Given the description of an element on the screen output the (x, y) to click on. 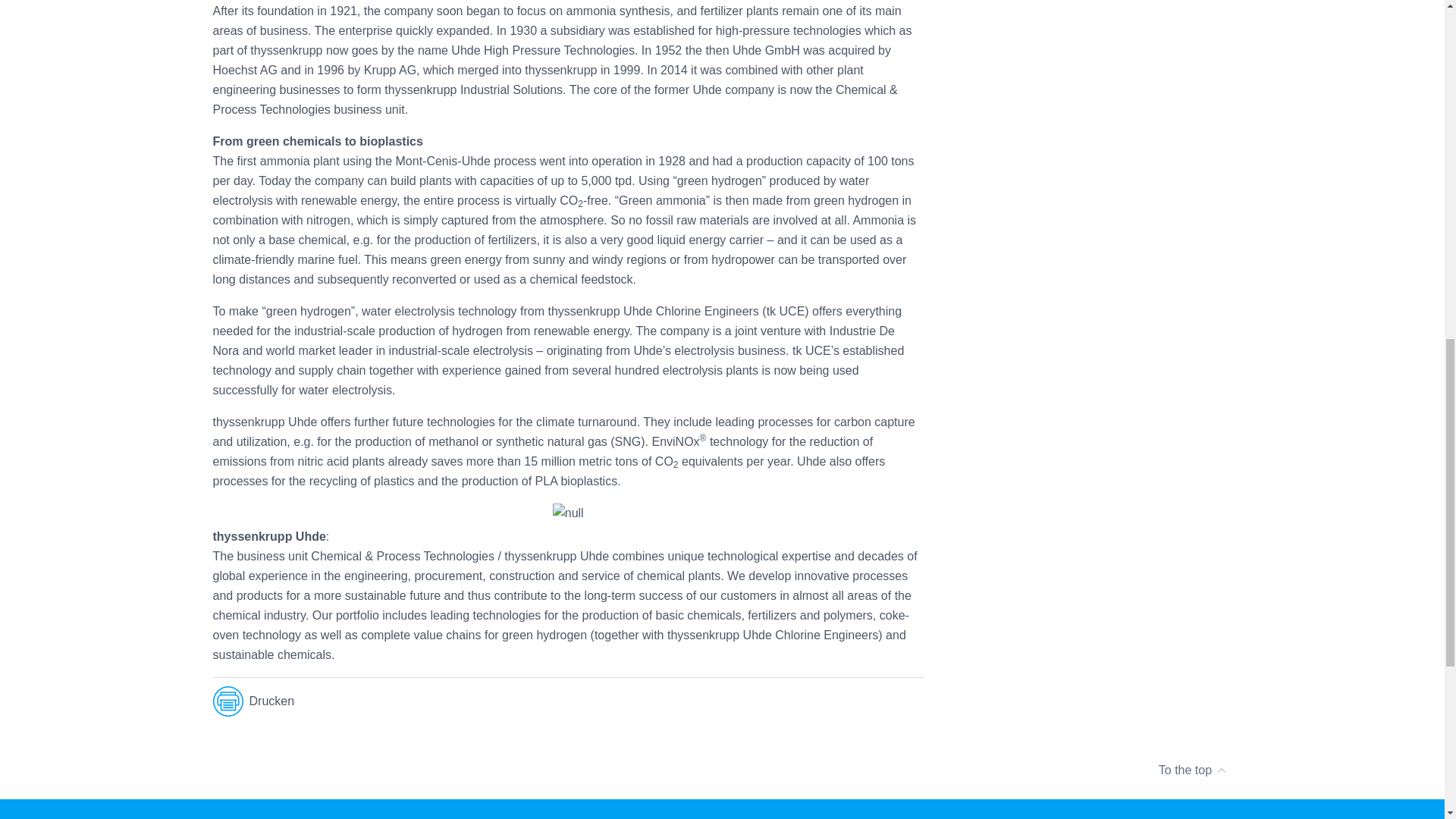
arrow-up (1220, 764)
To the top arrow-up (1192, 770)
To the top arrow-up (721, 770)
Email (253, 701)
Career (826, 702)
X (518, 816)
Facebook (787, 702)
LinkedIn (746, 702)
tk-print (867, 702)
